Given the description of an element on the screen output the (x, y) to click on. 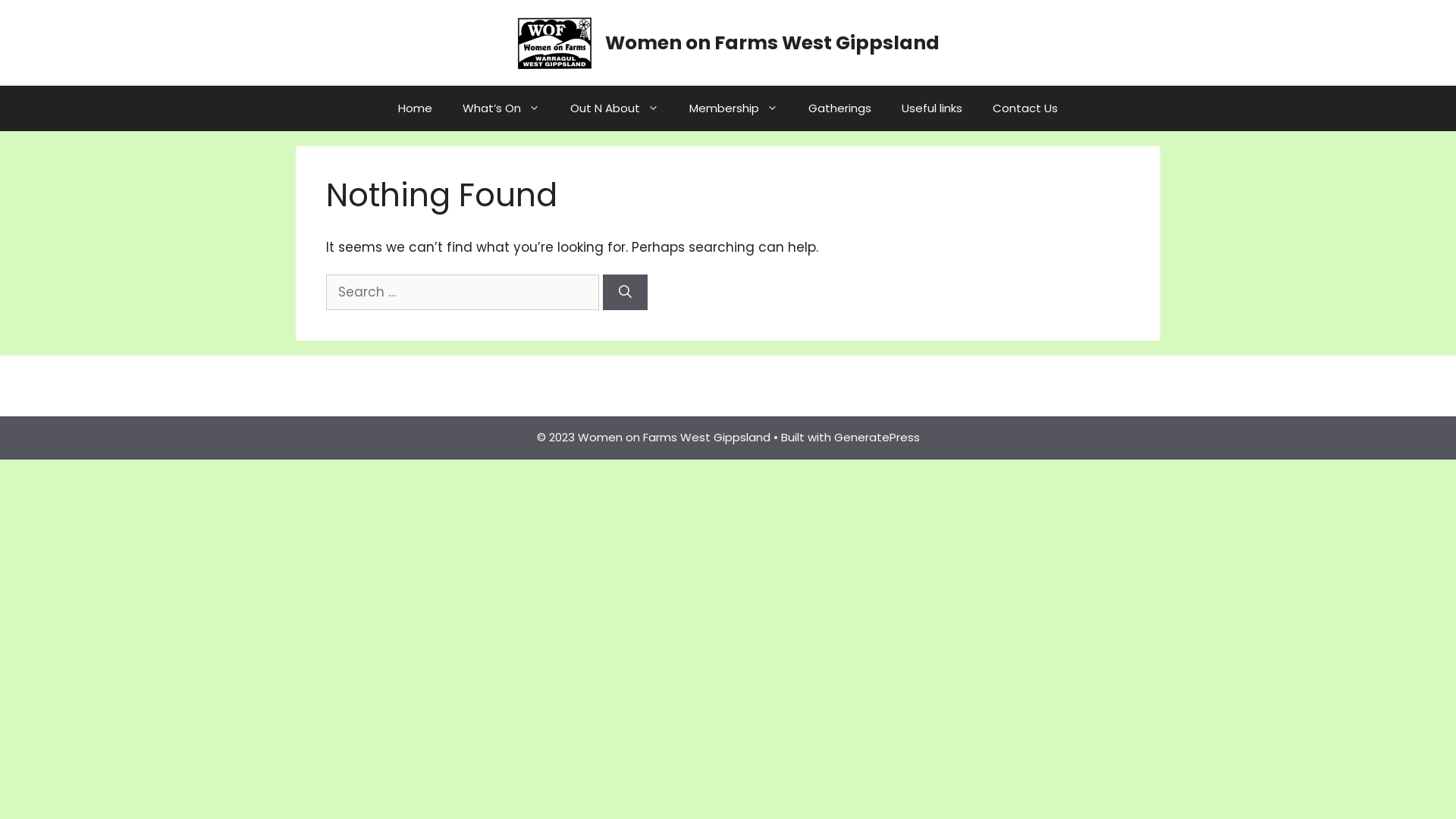
Women on Farms West Gippsland Element type: text (772, 41)
Gatherings Element type: text (839, 108)
Women on Farms West Gippsland Element type: hover (554, 41)
Contact Us Element type: text (1025, 108)
Search for: Element type: hover (462, 292)
Out N About Element type: text (614, 108)
Membership Element type: text (733, 108)
GeneratePress Element type: text (876, 437)
Women on Farms West Gippsland Element type: hover (554, 42)
Useful links Element type: text (931, 108)
Home Element type: text (414, 108)
